Given the description of an element on the screen output the (x, y) to click on. 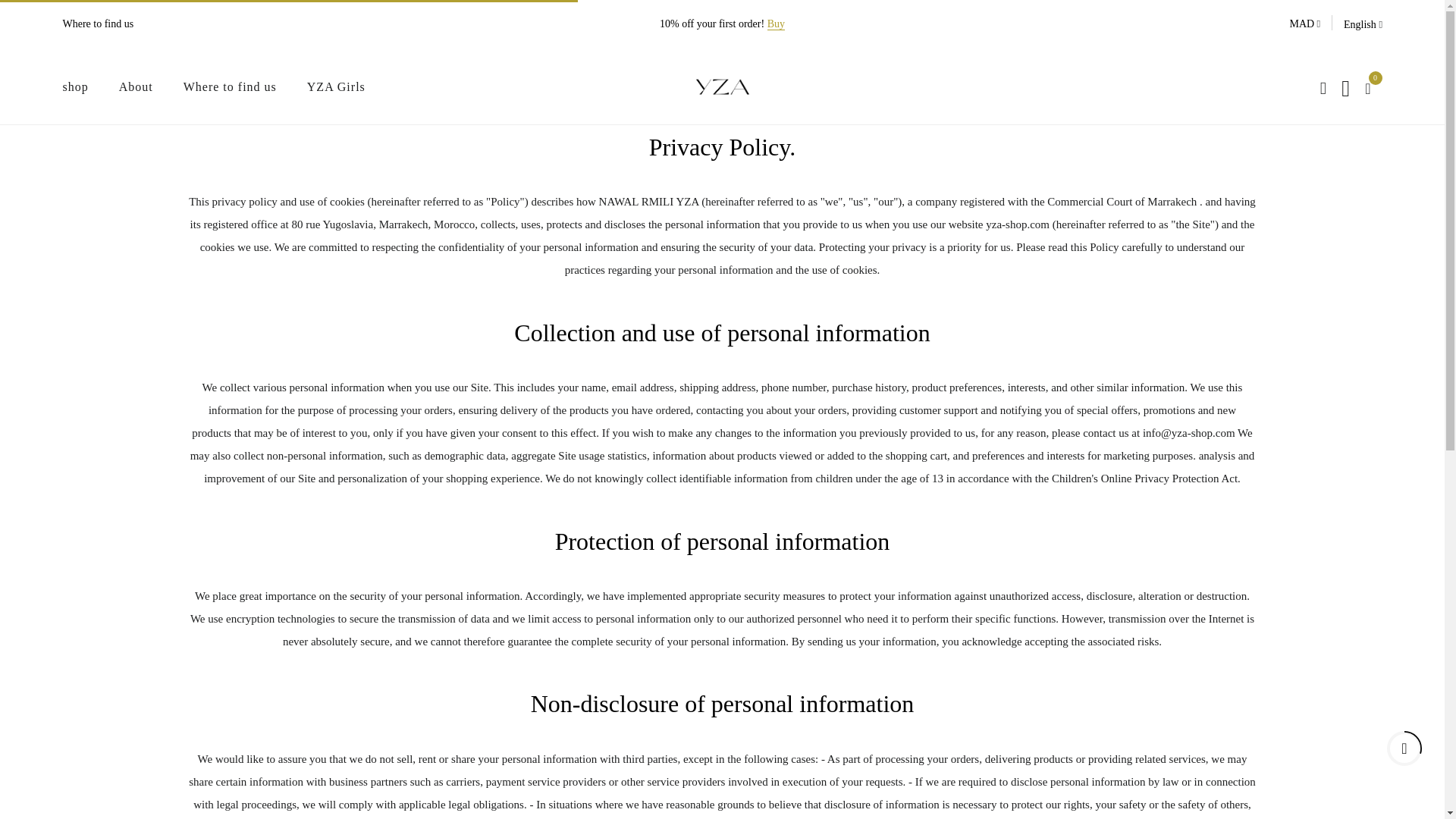
shop (74, 86)
Where to find us (97, 24)
Where to find us (229, 86)
Buy (775, 24)
About (135, 86)
YZA Girls (336, 86)
